Given the description of an element on the screen output the (x, y) to click on. 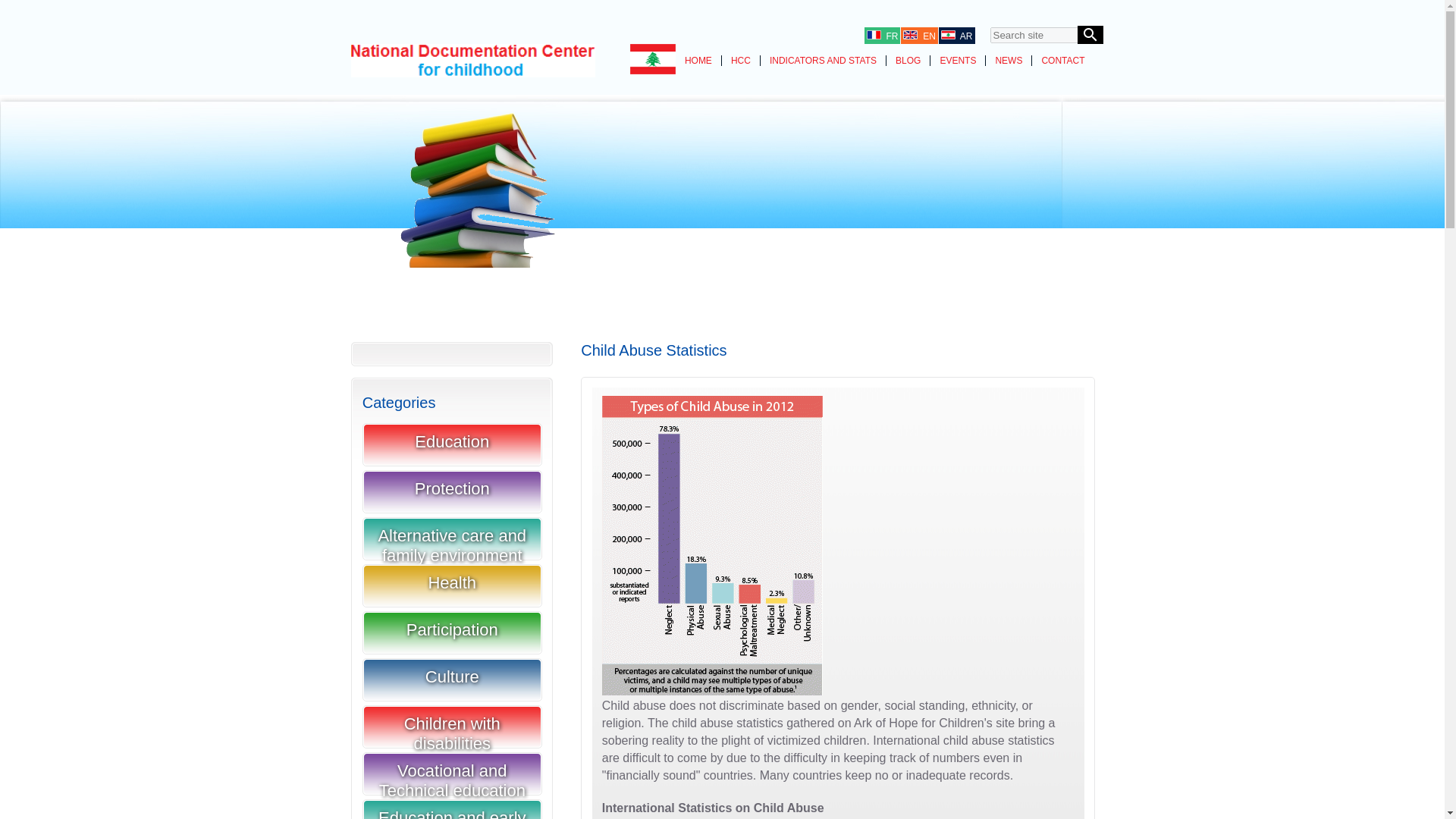
HOME (697, 60)
  EN (918, 36)
CONTACT (1062, 60)
HCC (741, 60)
  AR (956, 36)
Enter the terms you wish to search for. (1042, 35)
EVENTS (957, 60)
NEWS (1007, 60)
